Given the description of an element on the screen output the (x, y) to click on. 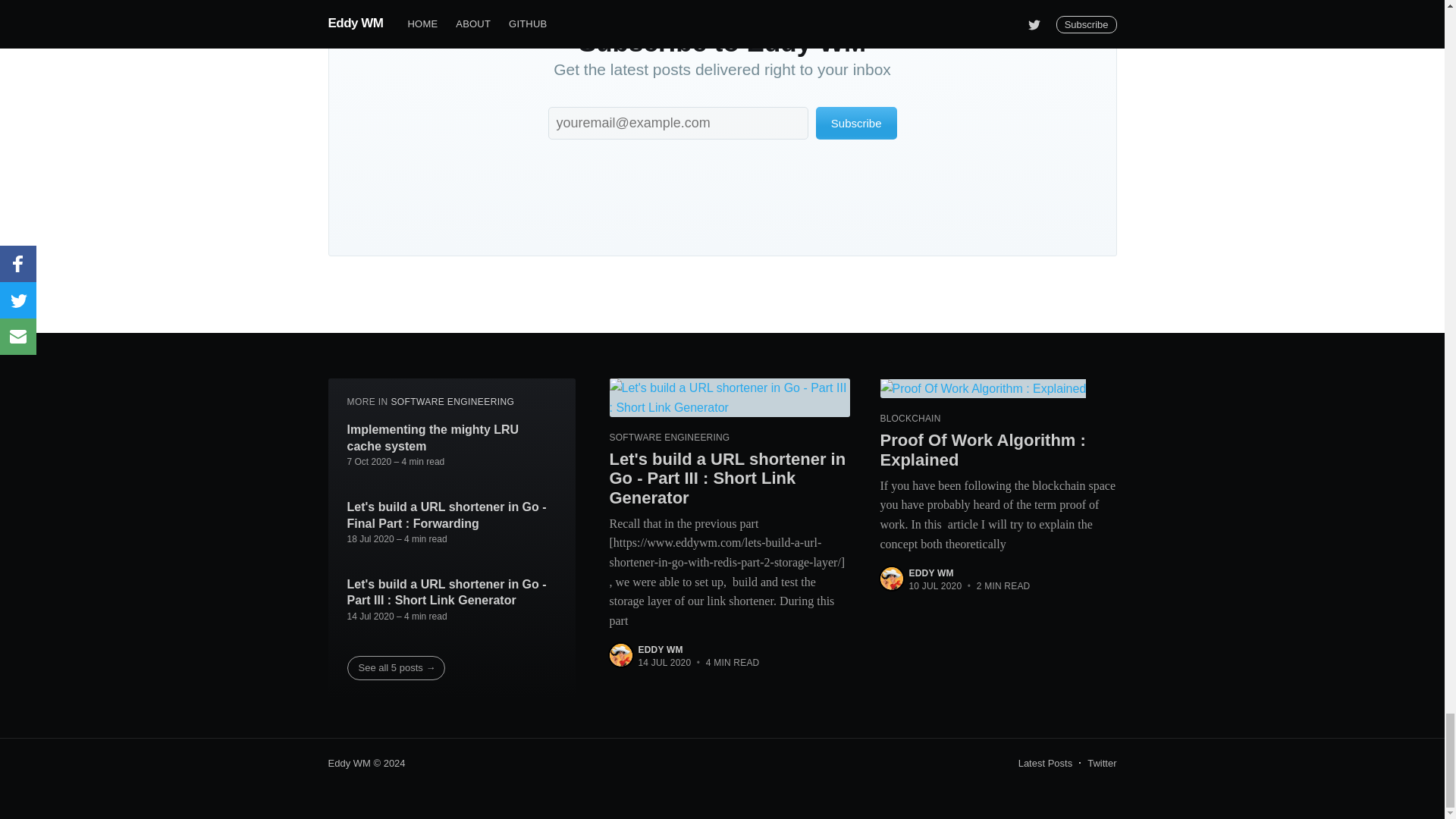
SOFTWARE ENGINEERING (451, 401)
Twitter (1101, 763)
Let's build a URL shortener in Go - Final Part : Forwarding (451, 514)
Subscribe (855, 123)
EDDY WM (660, 649)
Implementing the mighty LRU cache system (451, 437)
EDDY WM (930, 573)
Latest Posts (1045, 763)
